Given the description of an element on the screen output the (x, y) to click on. 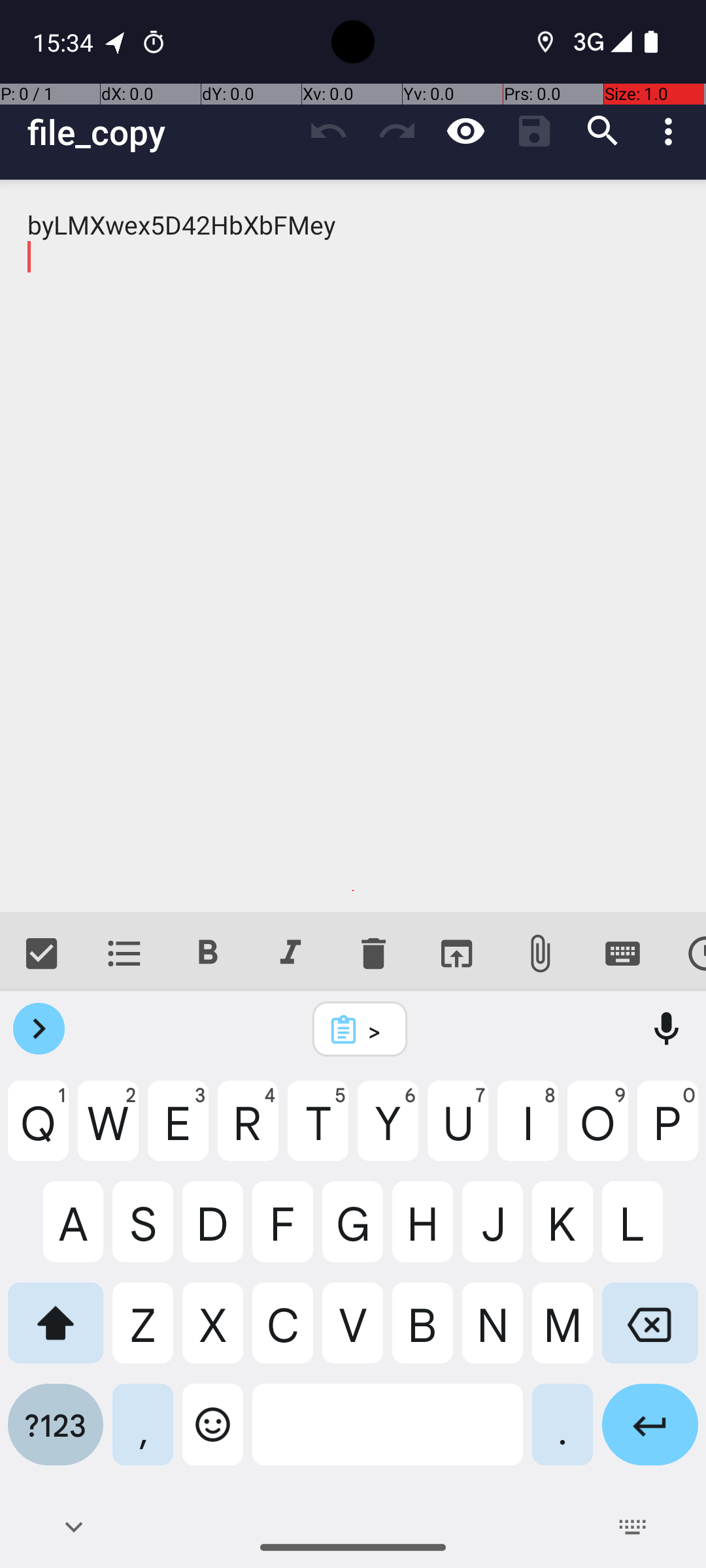
file_copy Element type: android.widget.TextView (160, 131)
byLMXwex5D42HbXbFMey
 Element type: android.widget.EditText (353, 545)
>  Element type: android.widget.TextView (377, 1029)
